Given the description of an element on the screen output the (x, y) to click on. 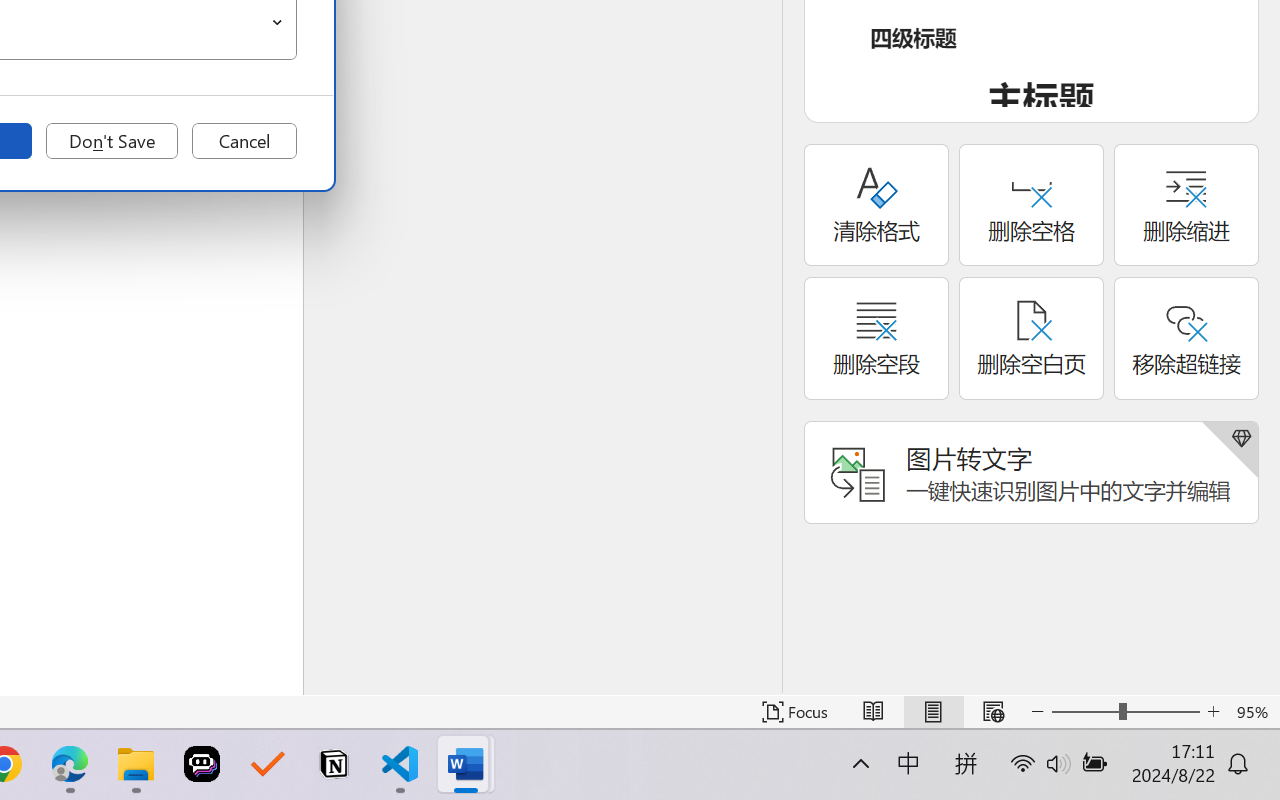
Zoom 95% (1253, 712)
Cancel (244, 141)
